Given the description of an element on the screen output the (x, y) to click on. 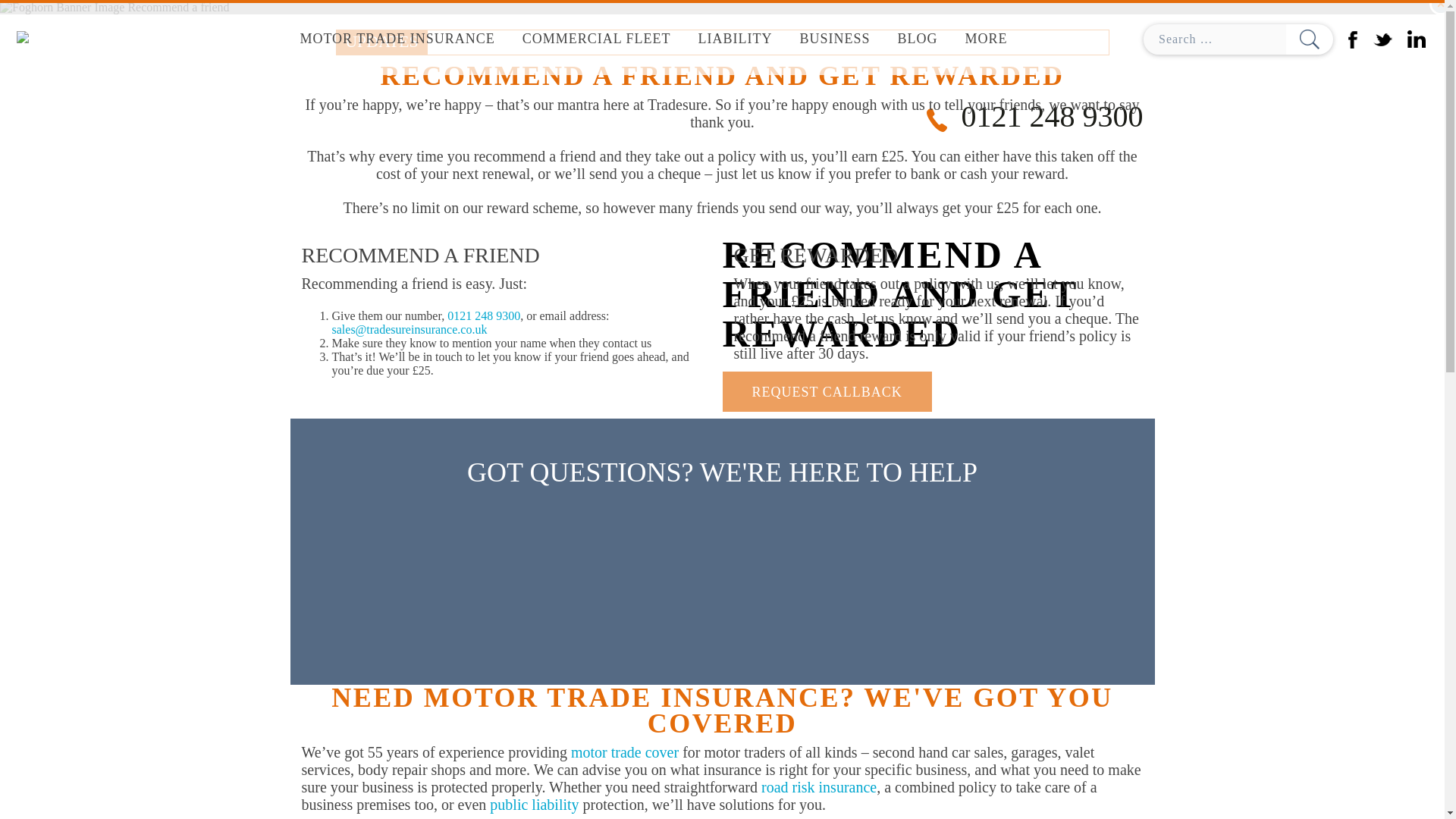
0121 248 9300 (1033, 116)
COMMERCIAL FLEET (596, 39)
facebook (1352, 38)
Search (1309, 39)
BUSINESS (834, 39)
road risk insurance (818, 786)
BLOG (917, 39)
Tradesure Insurance (83, 38)
0121 248 9300 (482, 315)
linkedin (1417, 38)
Search (1309, 39)
LIABILITY (735, 39)
MOTOR TRADE INSURANCE (396, 39)
MORE (987, 39)
REQUEST CALLBACK (826, 391)
